Given the description of an element on the screen output the (x, y) to click on. 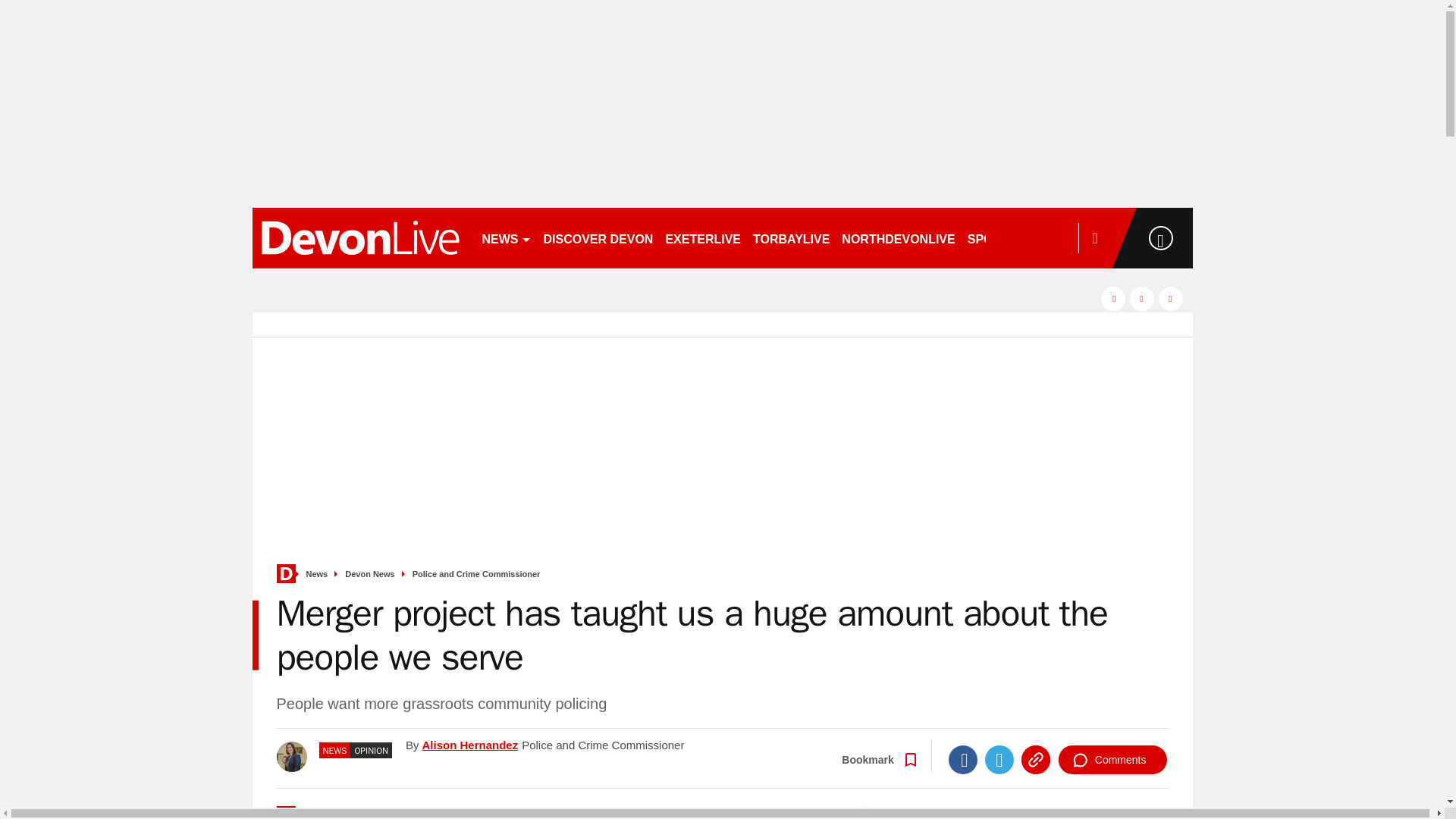
Facebook (962, 759)
instagram (1170, 298)
Comments (1112, 759)
NORTHDEVONLIVE (897, 238)
DISCOVER DEVON (598, 238)
devonlive (359, 238)
facebook (1112, 298)
EXETERLIVE (702, 238)
SPORT (993, 238)
NEWS (506, 238)
